Given the description of an element on the screen output the (x, y) to click on. 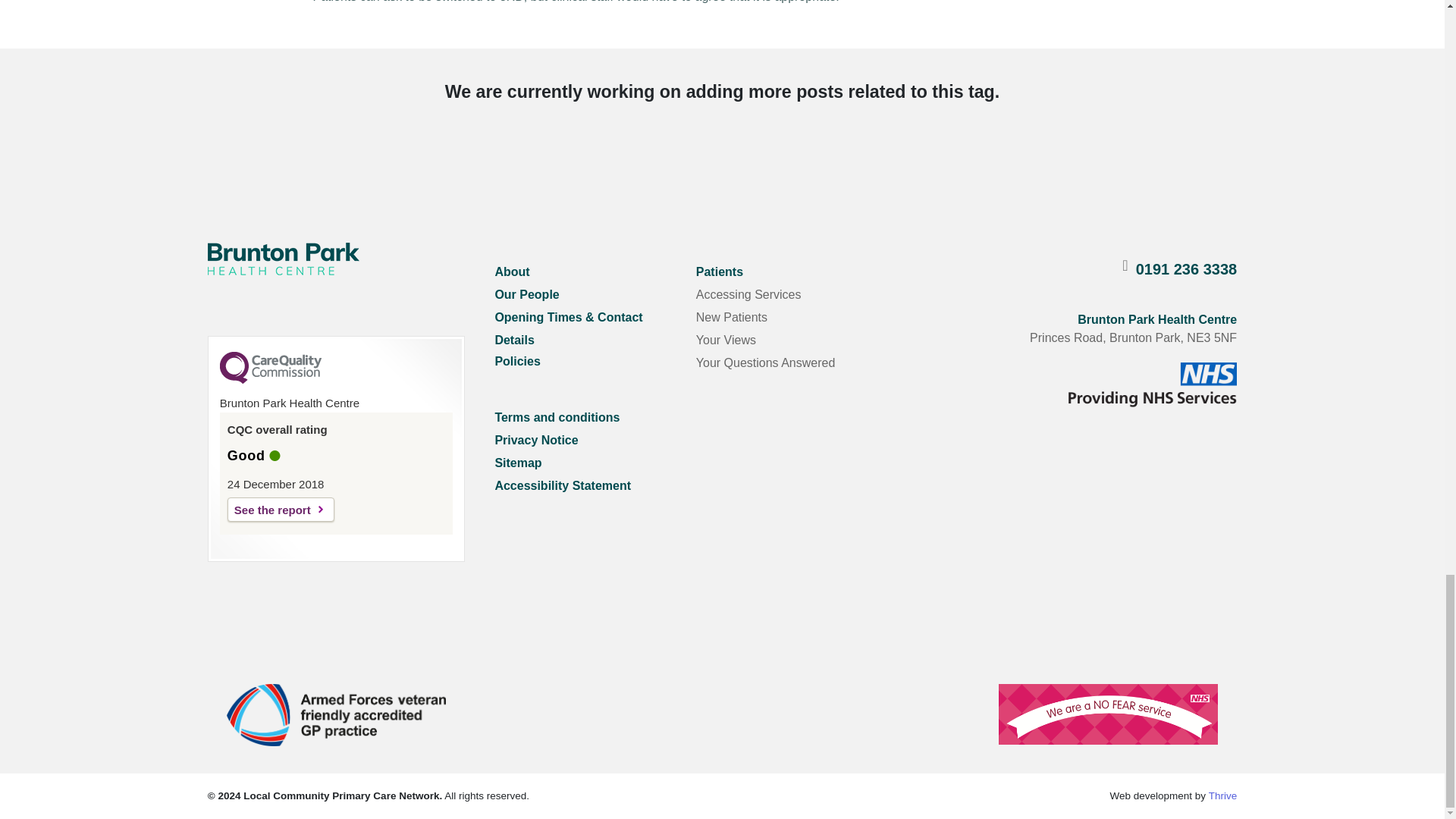
See the report (280, 509)
Brunton Park Health Centre (283, 258)
Call 0191 236 3338 (1185, 268)
CQC Logo (270, 379)
